Given the description of an element on the screen output the (x, y) to click on. 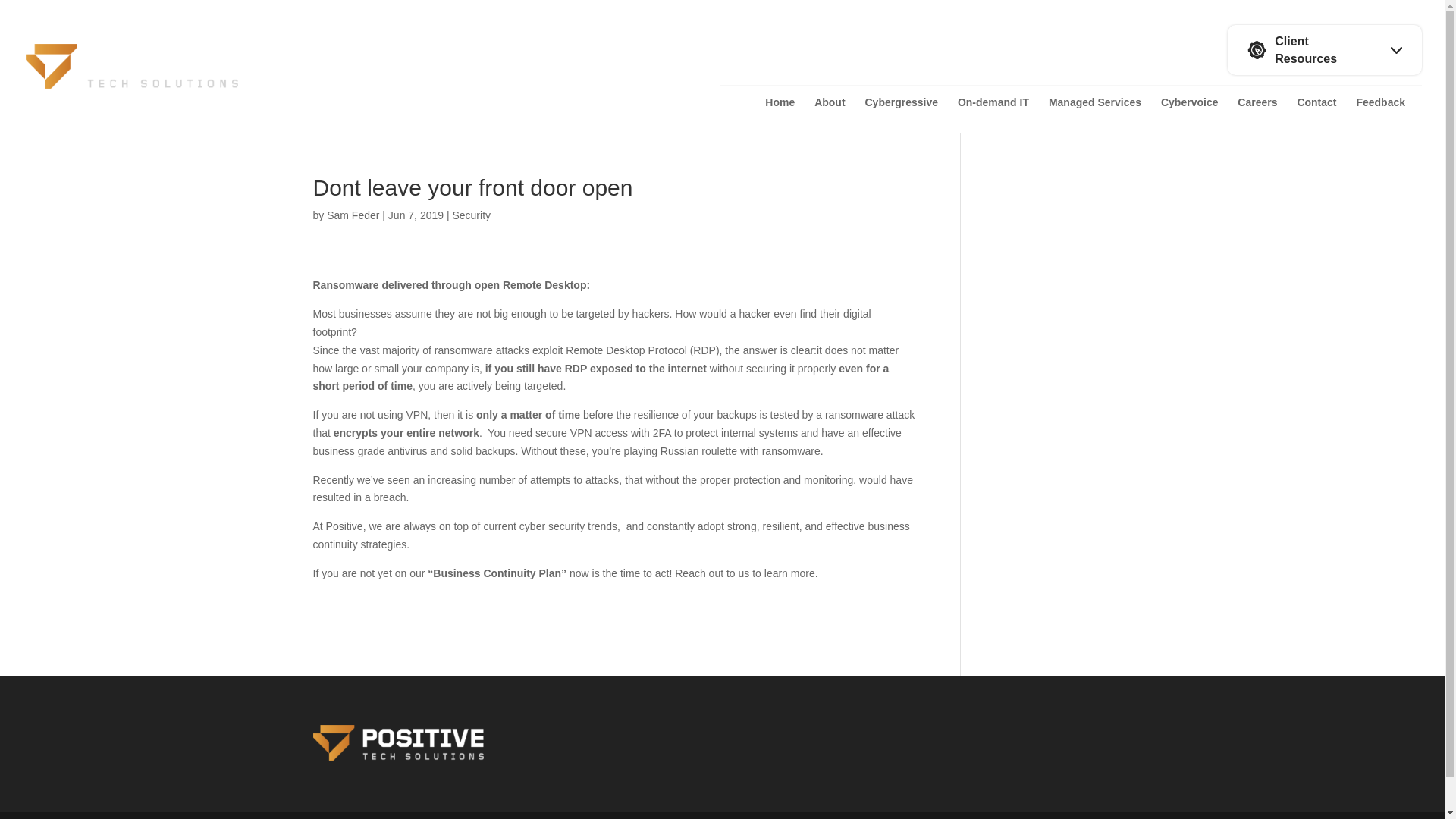
Managed Services (1094, 114)
Posts by Sam Feder (352, 215)
Contact (1316, 114)
Cybervoice (1188, 114)
Cybergressive (900, 114)
Feedback (1380, 114)
On-demand IT (993, 114)
Careers (1256, 114)
